Given the description of an element on the screen output the (x, y) to click on. 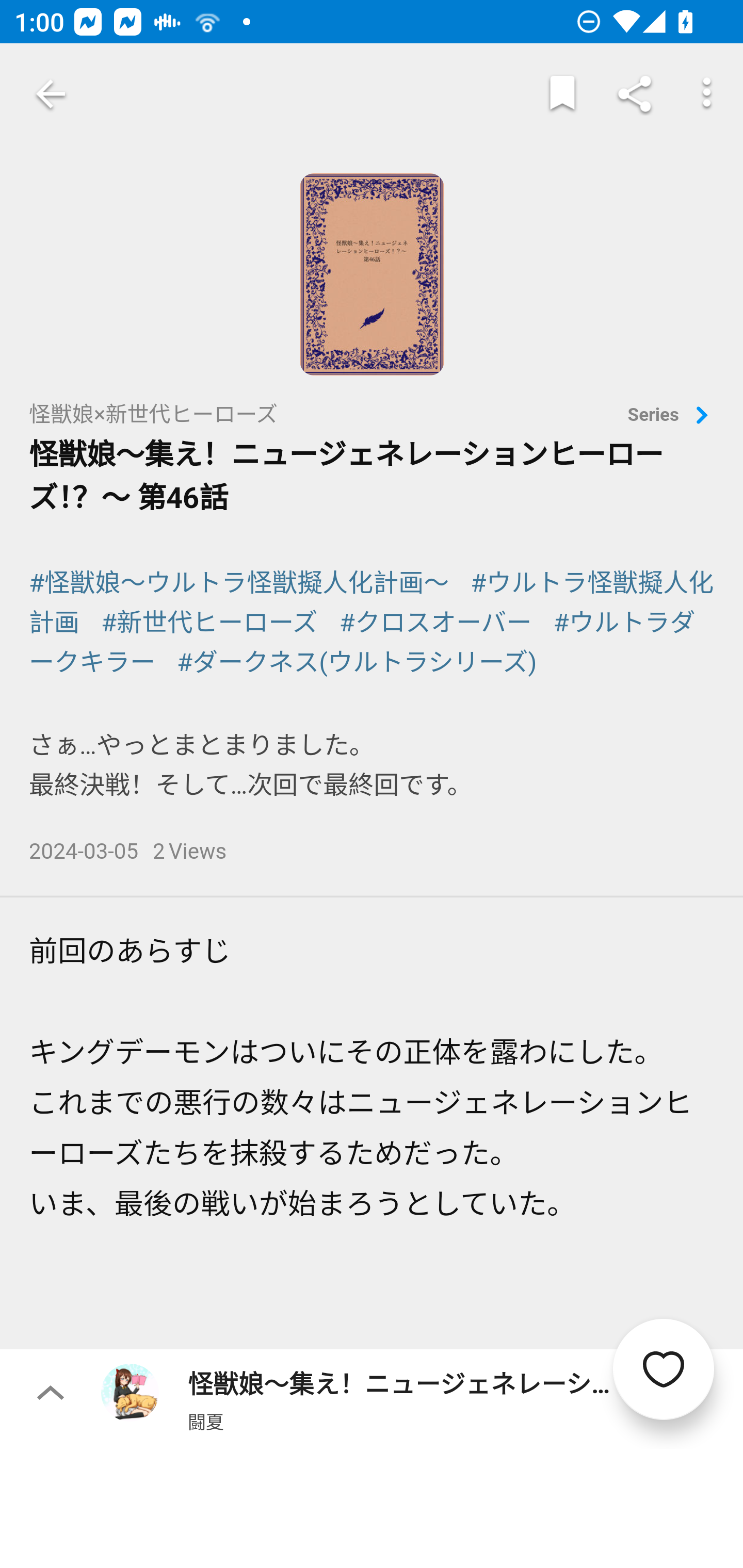
Navigate up (50, 93)
Markers (562, 93)
Share (634, 93)
More options (706, 93)
Series (671, 416)
#怪獣娘〜ウルトラ怪獣擬人化計画〜 (238, 582)
#新世代ヒーローズ (210, 622)
#クロスオーバー (434, 622)
#ダークネス(ウルトラシリーズ) (356, 662)
闘夏 (205, 1421)
